Given the description of an element on the screen output the (x, y) to click on. 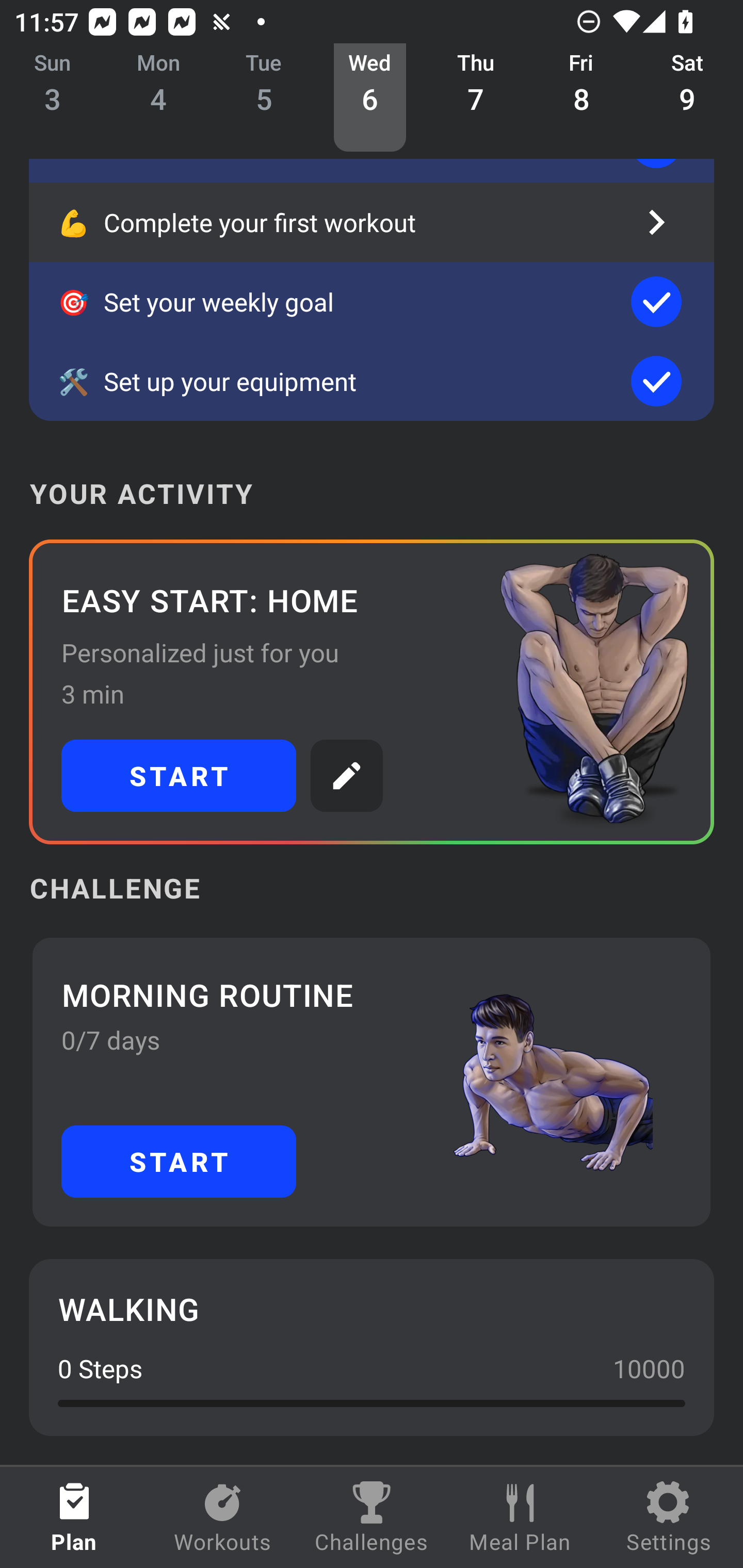
Sun 3 (52, 97)
Mon 4 (158, 97)
Tue 5 (264, 97)
Wed 6 (369, 97)
Thu 7 (475, 97)
Fri 8 (581, 97)
Sat 9 (687, 97)
💪 Complete your first workout (371, 221)
START (178, 776)
MORNING ROUTINE 0/7 days START (371, 1082)
START (178, 1161)
WALKING 0 Steps 10000 0.0 (371, 1347)
 Workouts  (222, 1517)
 Challenges  (371, 1517)
 Meal Plan  (519, 1517)
 Settings  (668, 1517)
